Given the description of an element on the screen output the (x, y) to click on. 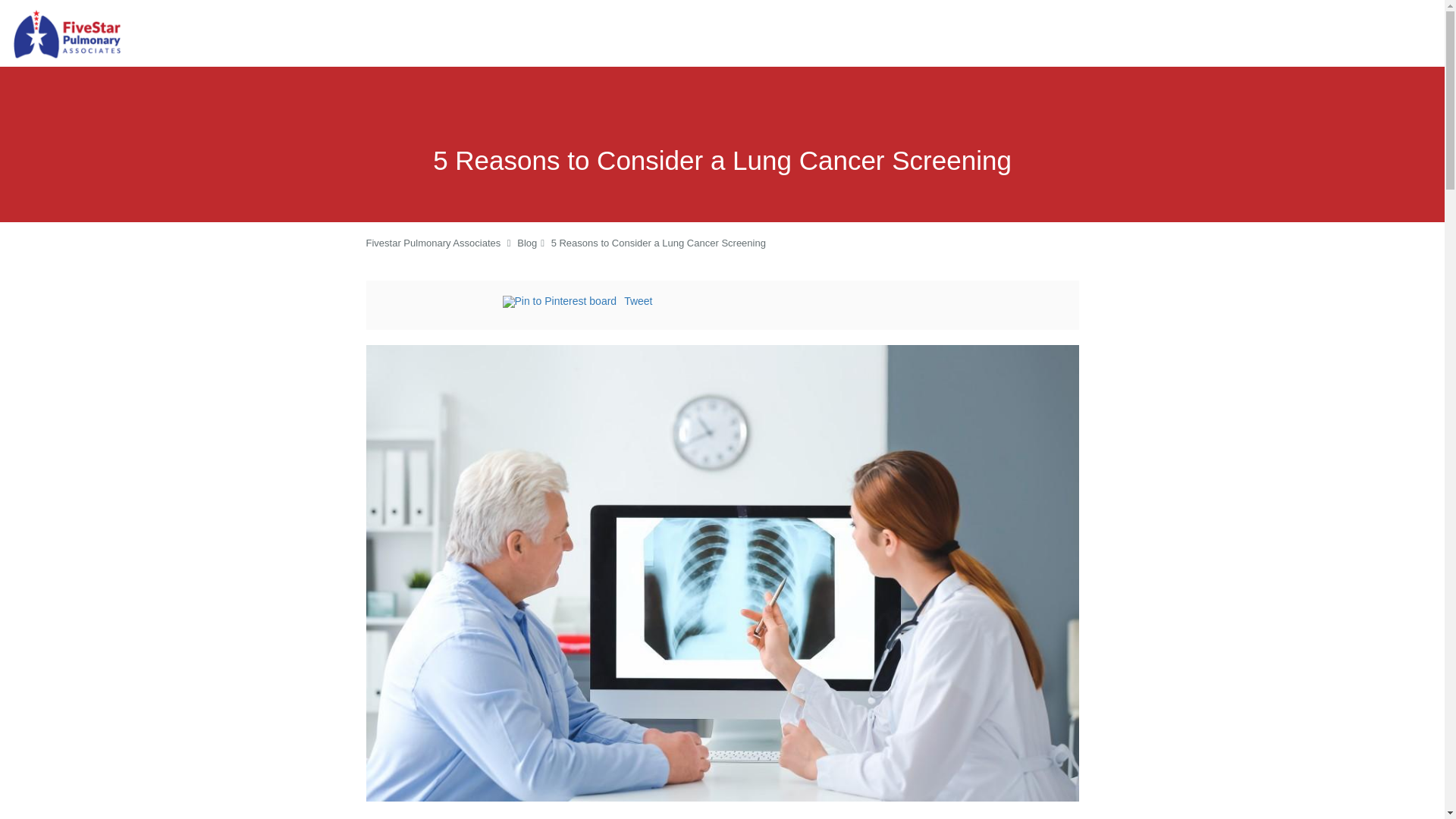
Skip to main content (74, 7)
Facebook social button (441, 303)
